Given the description of an element on the screen output the (x, y) to click on. 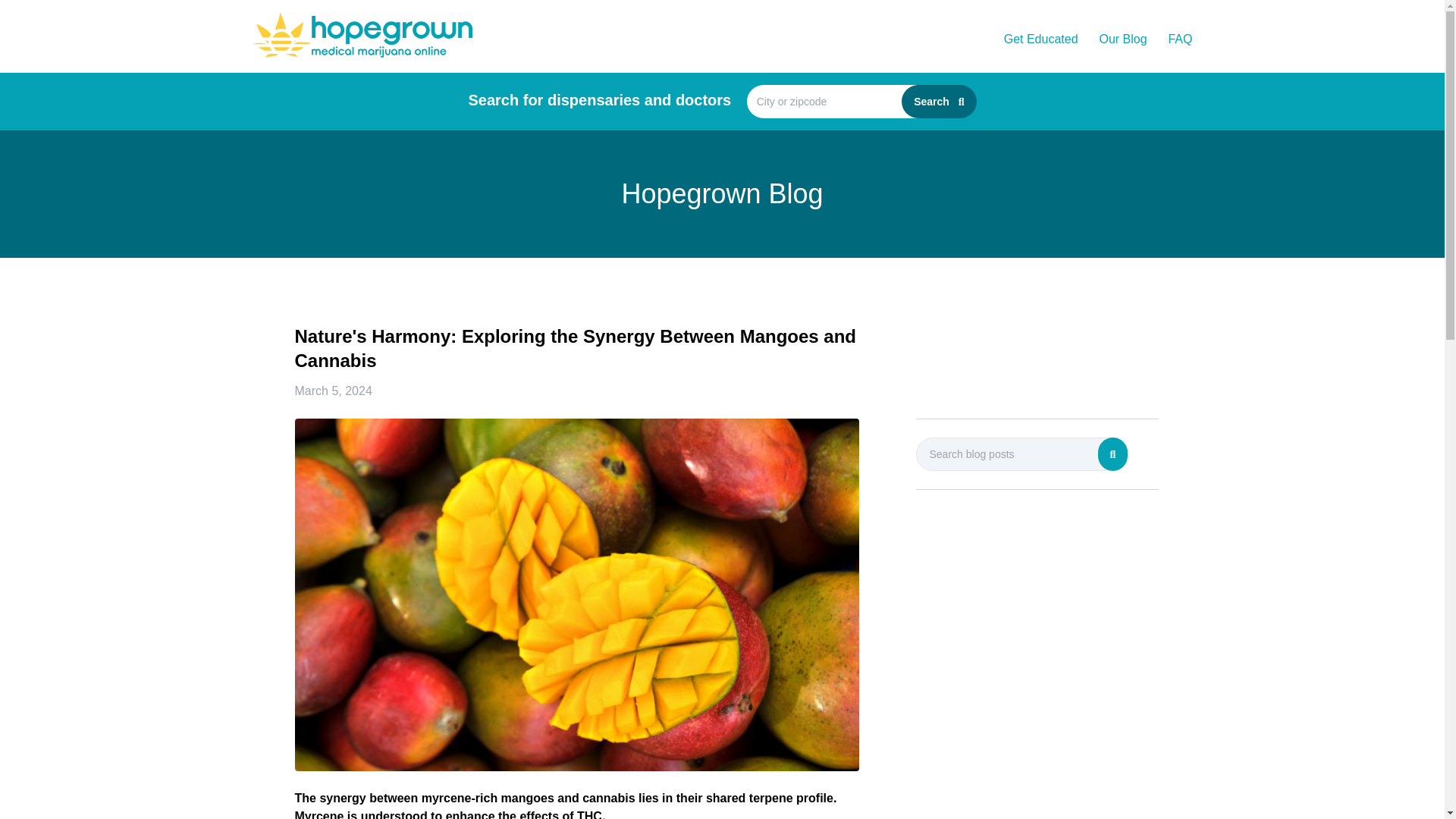
Hopegrown Blog (721, 194)
Our Blog (1123, 39)
Search (938, 101)
Get Educated (1041, 39)
FAQ (1178, 39)
